Given the description of an element on the screen output the (x, y) to click on. 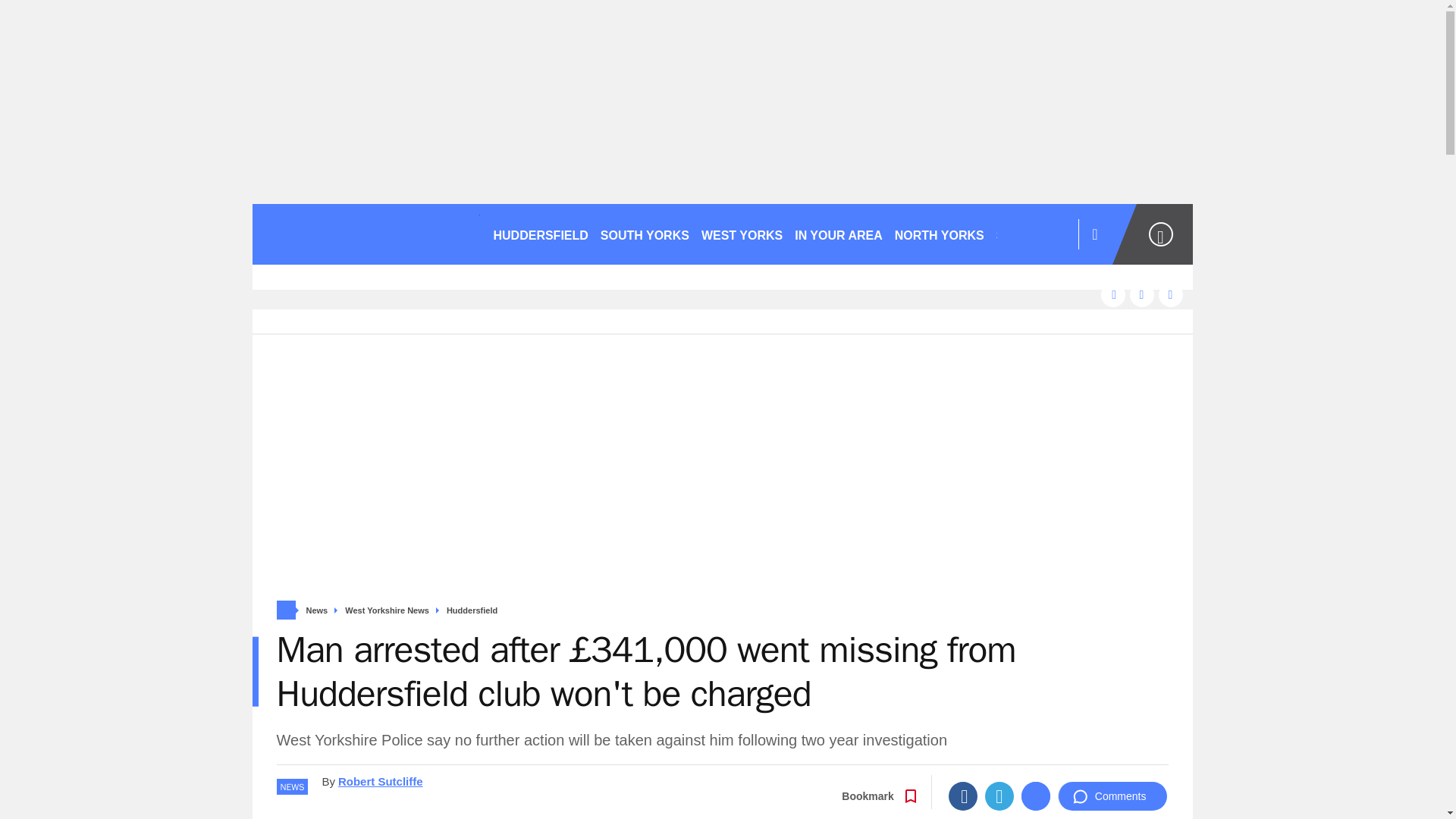
instagram (1170, 294)
NORTH YORKS (939, 233)
Twitter (999, 796)
SOUTH YORKS (644, 233)
facebook (1112, 294)
IN YOUR AREA (838, 233)
SPORT (1023, 233)
Facebook (962, 796)
Comments (1112, 796)
WEST YORKS (742, 233)
twitter (1141, 294)
huddersfieldexaminer (365, 233)
HUDDERSFIELD (540, 233)
